Given the description of an element on the screen output the (x, y) to click on. 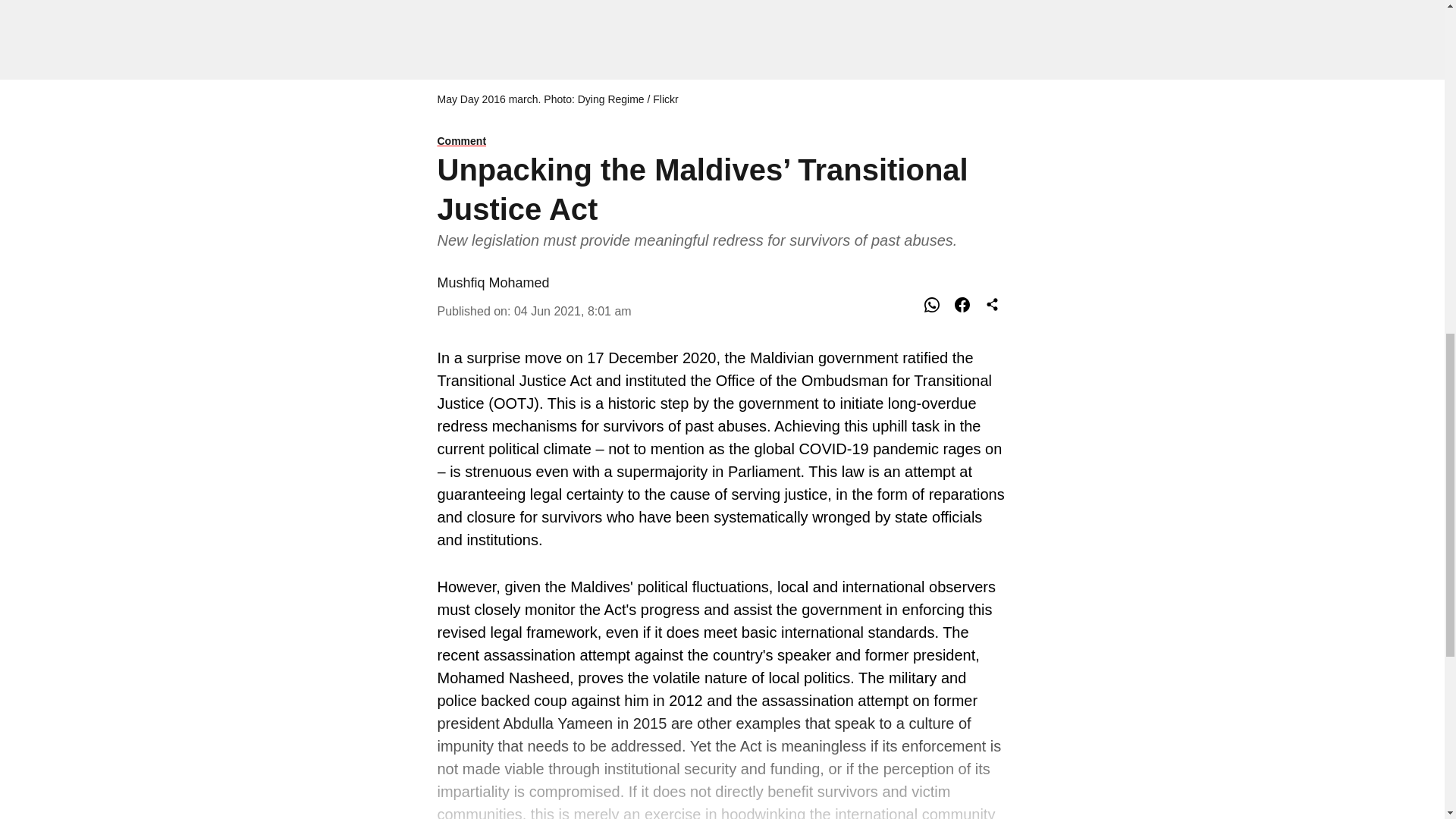
2021-06-04 08:01 (572, 310)
Mushfiq Mohamed (492, 282)
Comment (721, 141)
